Given the description of an element on the screen output the (x, y) to click on. 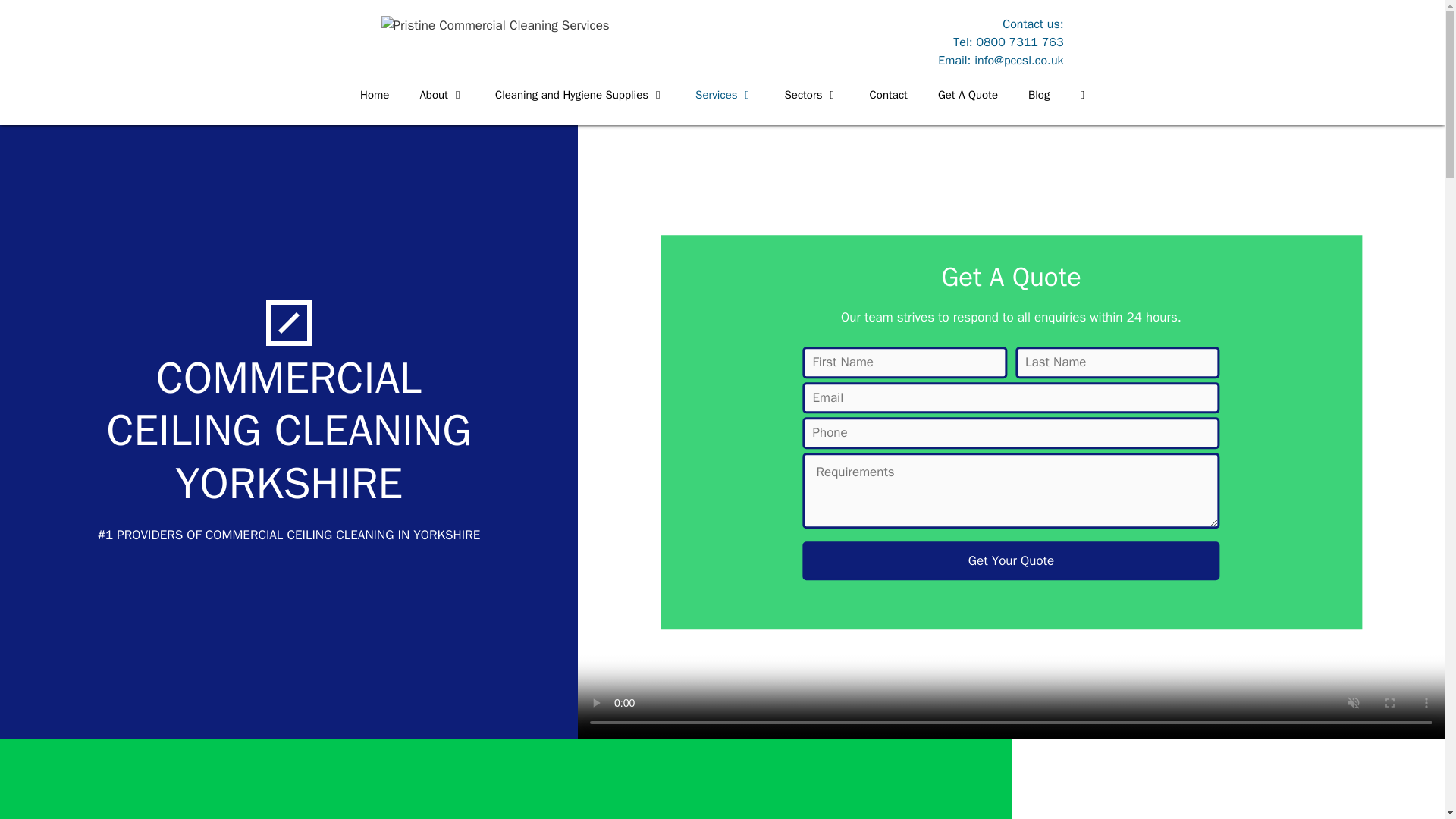
Cleaning and Hygiene Supplies (579, 106)
About (441, 106)
View your shopping cart (1081, 106)
Services (723, 106)
Home (374, 106)
0800 7311 763 (1018, 42)
Sectors (812, 106)
Pristine Commercial Cleaning Services (494, 25)
Pristine Commercial Cleaning Services (494, 24)
Get Your Quote (1011, 560)
